Given the description of an element on the screen output the (x, y) to click on. 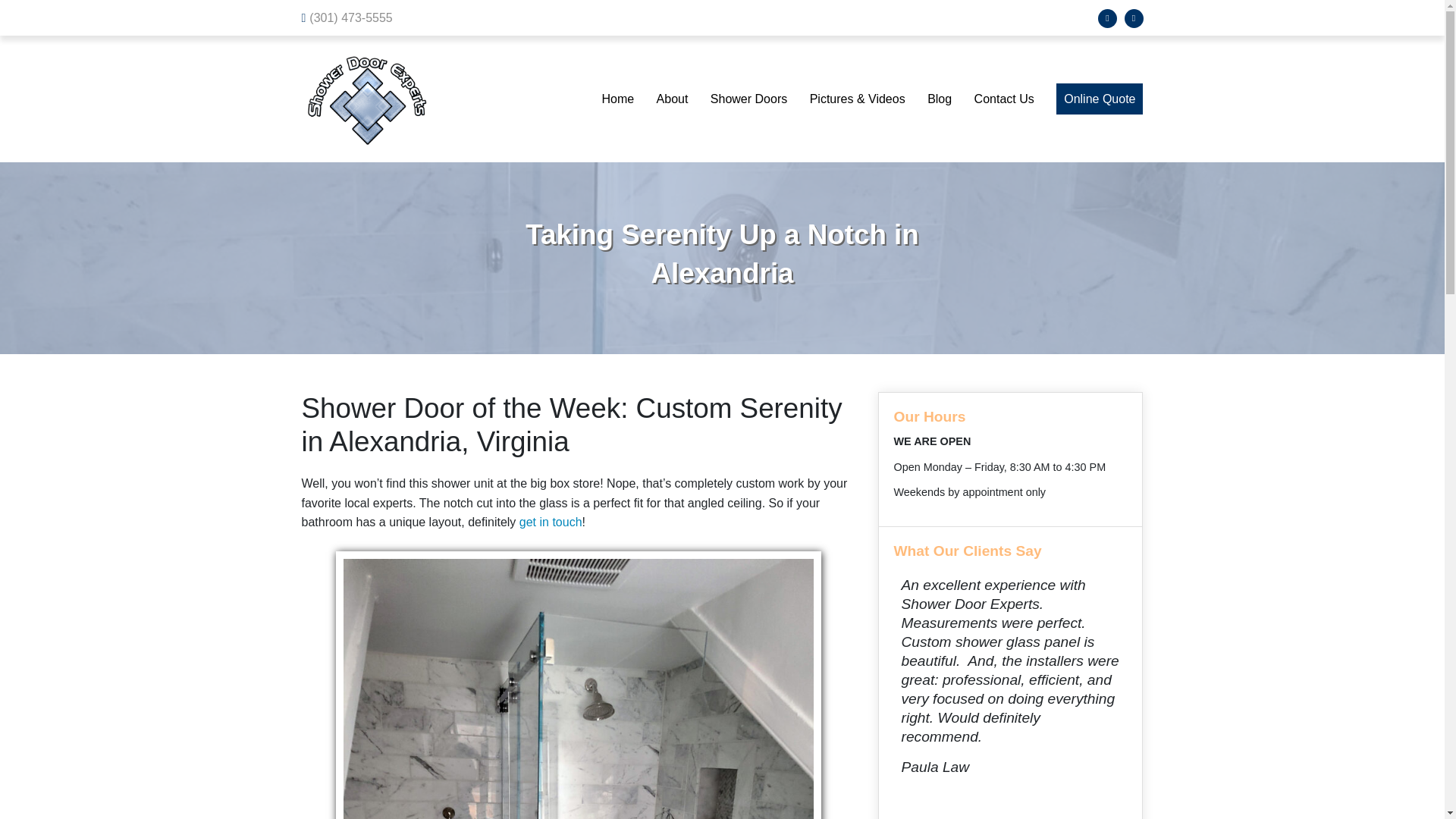
Home (617, 98)
Shower Doors (748, 98)
About (672, 98)
